Given the description of an element on the screen output the (x, y) to click on. 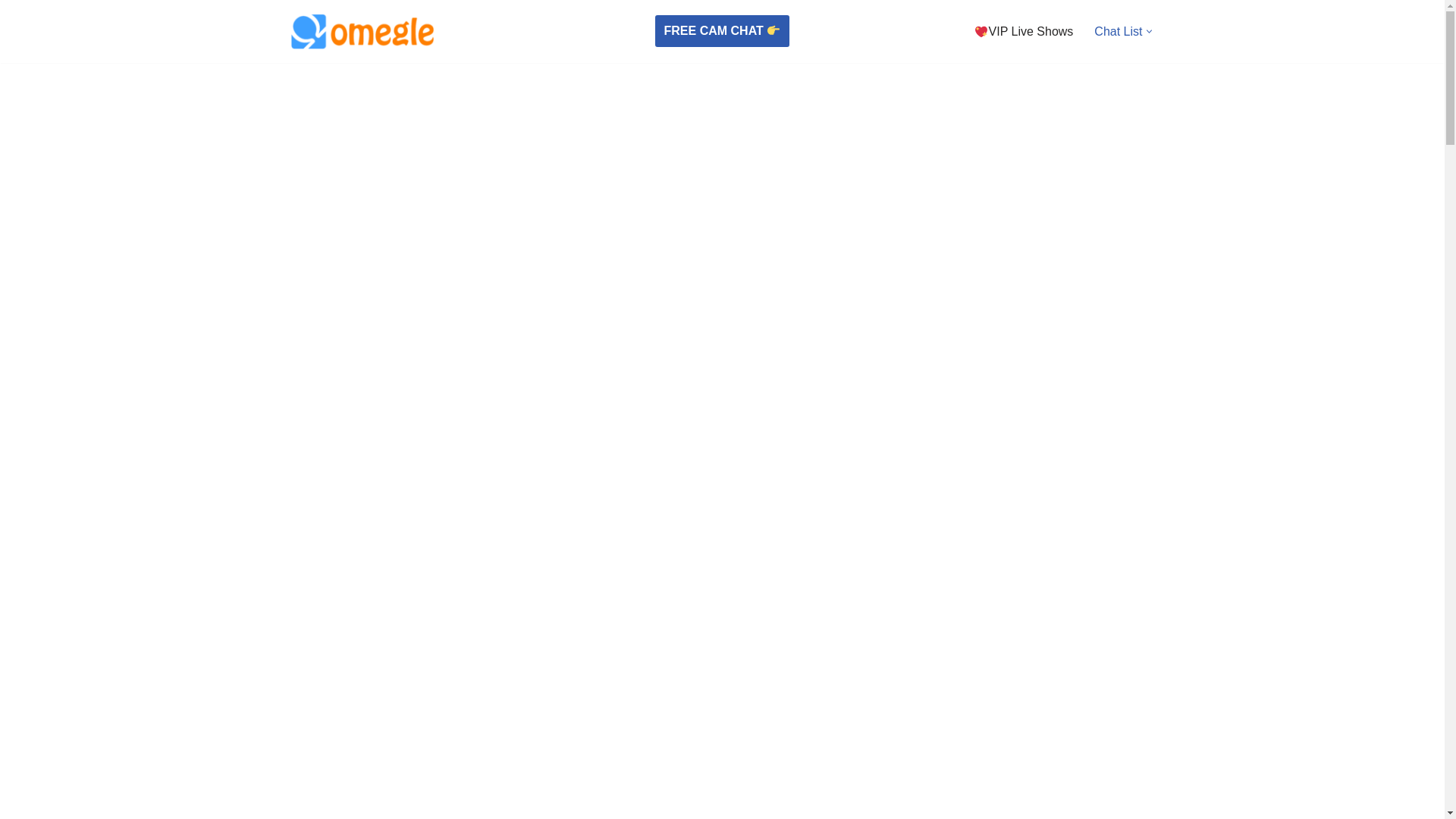
Skip to content Element type: text (11, 31)
FREE CAM CHAT Element type: text (722, 31)
Chat List Element type: text (1118, 31)
VIP Live Shows Element type: text (1023, 31)
